Given the description of an element on the screen output the (x, y) to click on. 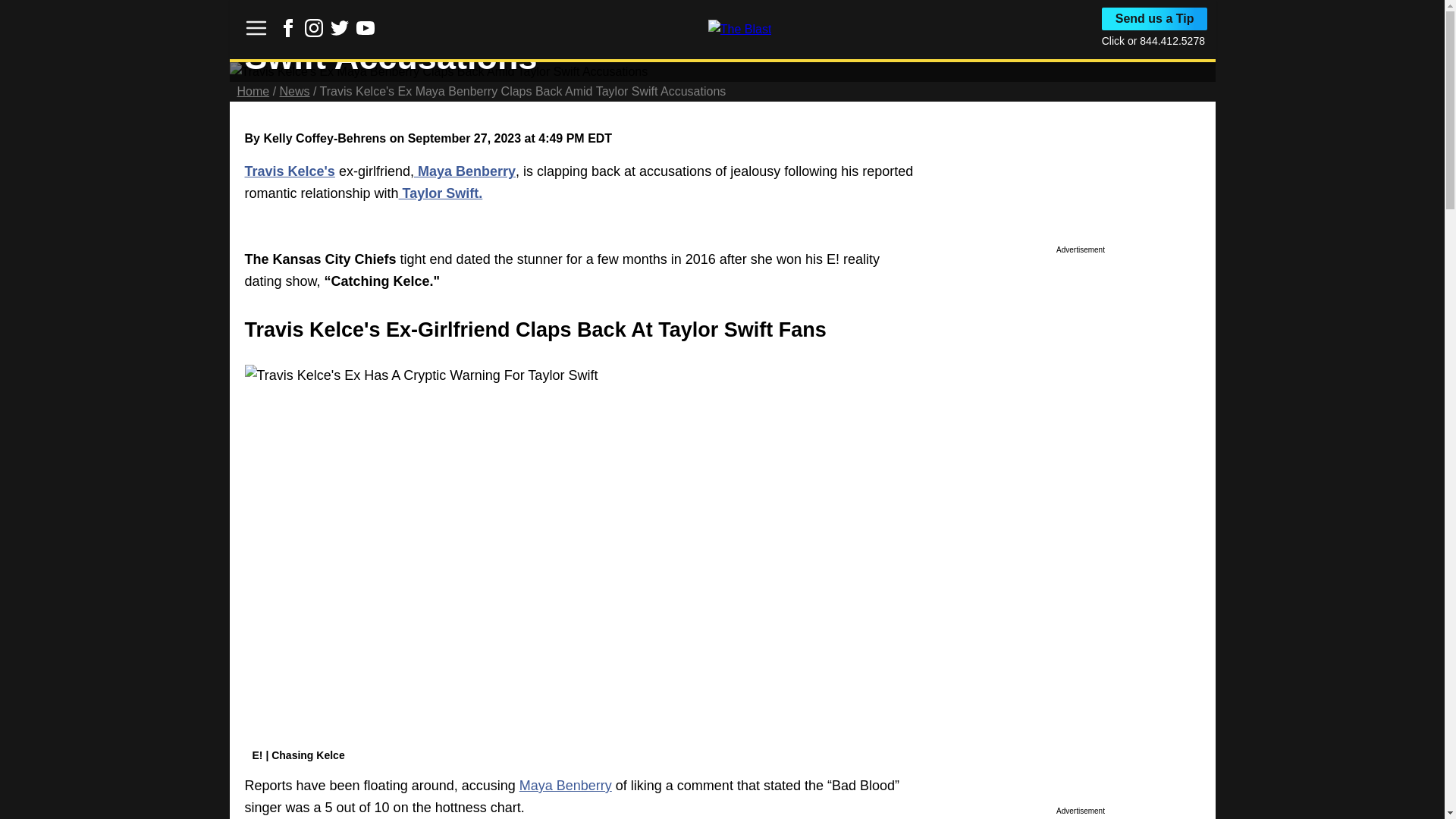
Link to Youtube (365, 27)
Link to Twitter (339, 27)
Link to Facebook (288, 31)
Maya Benberry (464, 171)
Link to Twitter (339, 31)
Maya Benberry (565, 785)
Link to Instagram (313, 31)
Click or 844.412.5278 (1153, 40)
Send us a Tip (1155, 18)
Link to Facebook (288, 27)
Home (252, 91)
Kelly Coffey-Behrens (324, 137)
Link to Youtube (365, 31)
Link to Instagram (313, 27)
News (294, 91)
